Given the description of an element on the screen output the (x, y) to click on. 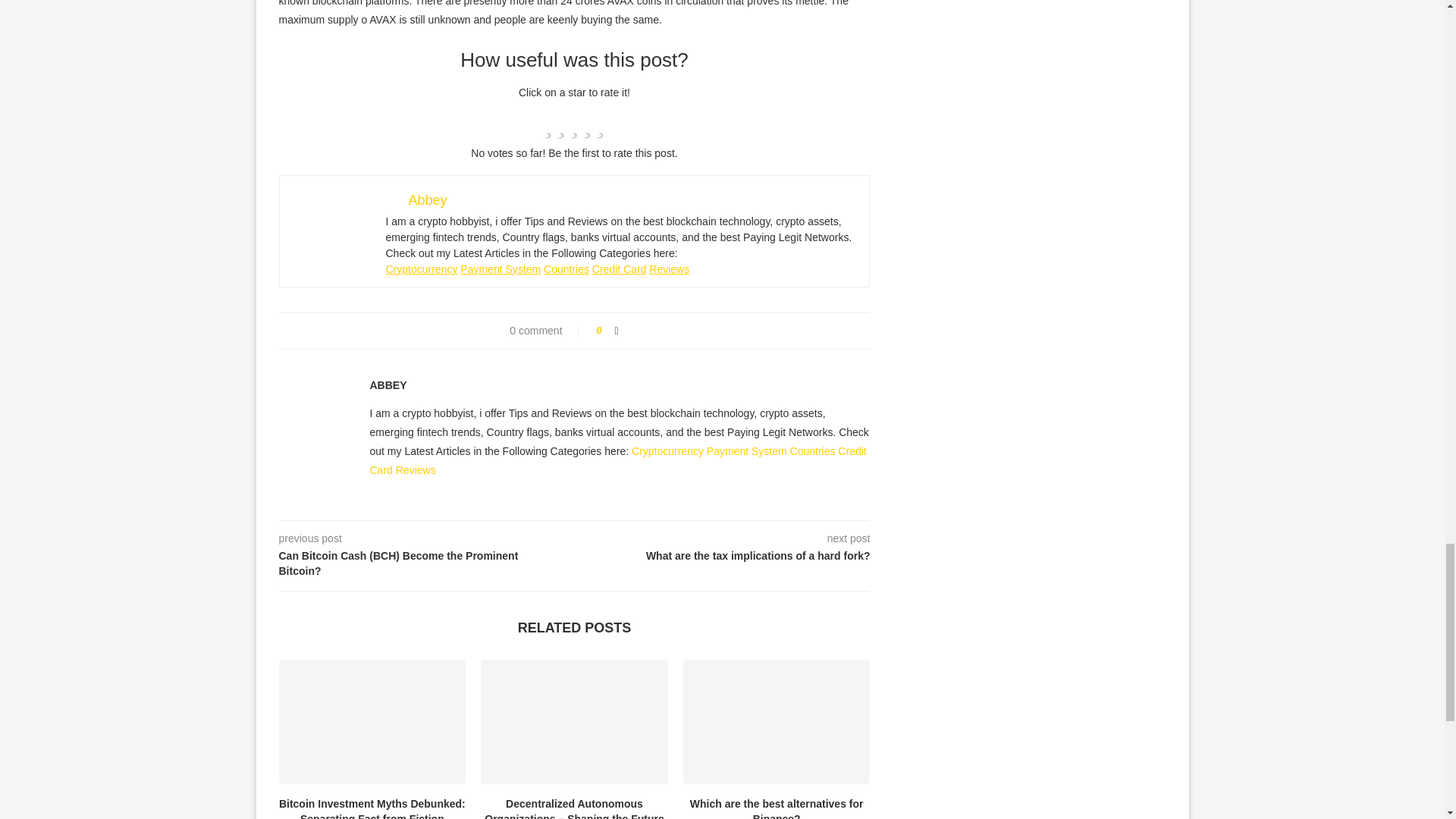
Which are the best alternatives for Binance? (776, 721)
Author Abbey (388, 385)
